Given the description of an element on the screen output the (x, y) to click on. 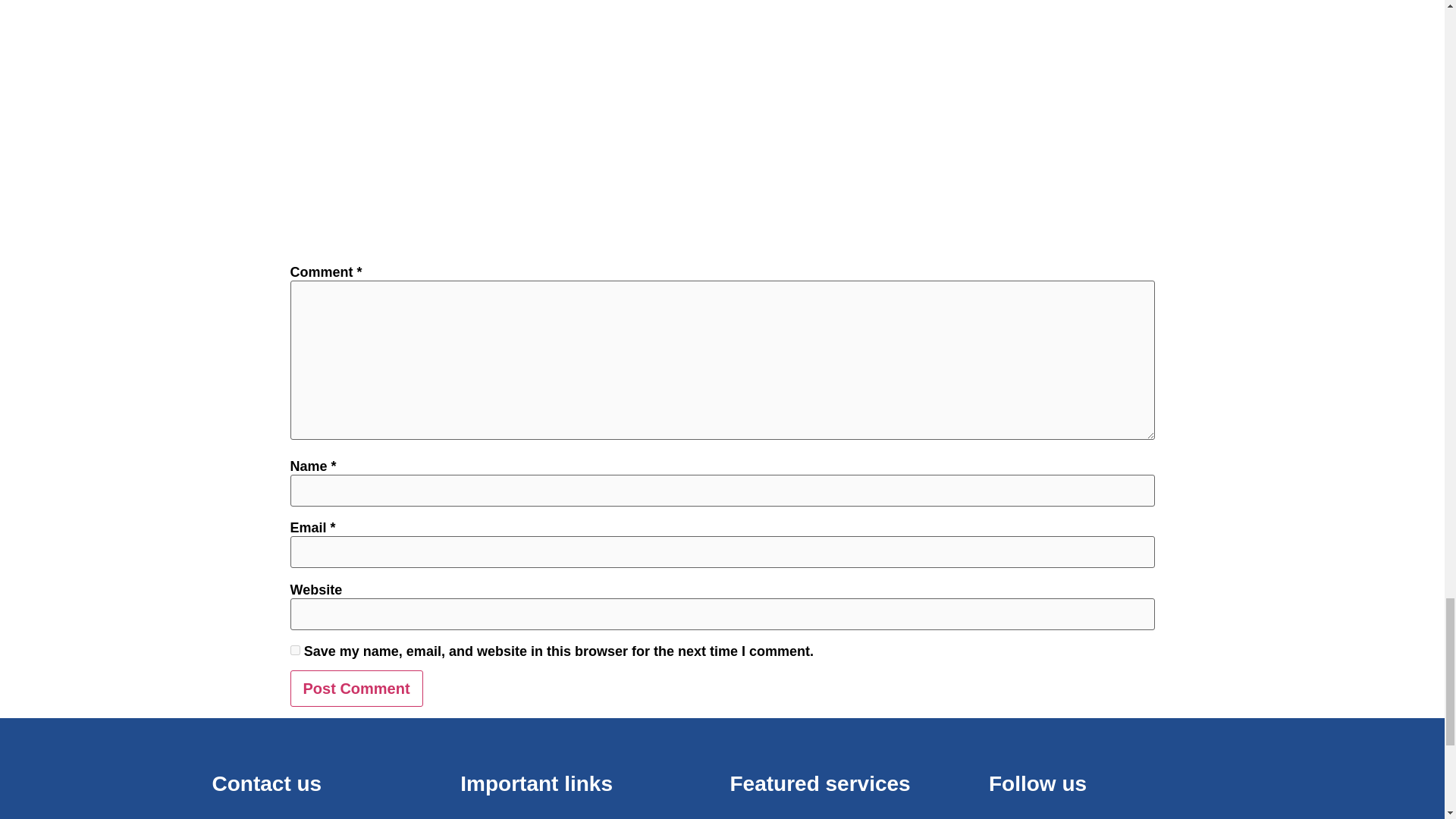
Home (587, 816)
Post Comment (355, 688)
Post Comment (355, 688)
yes (294, 650)
020 8522 4400 (302, 817)
